Given the description of an element on the screen output the (x, y) to click on. 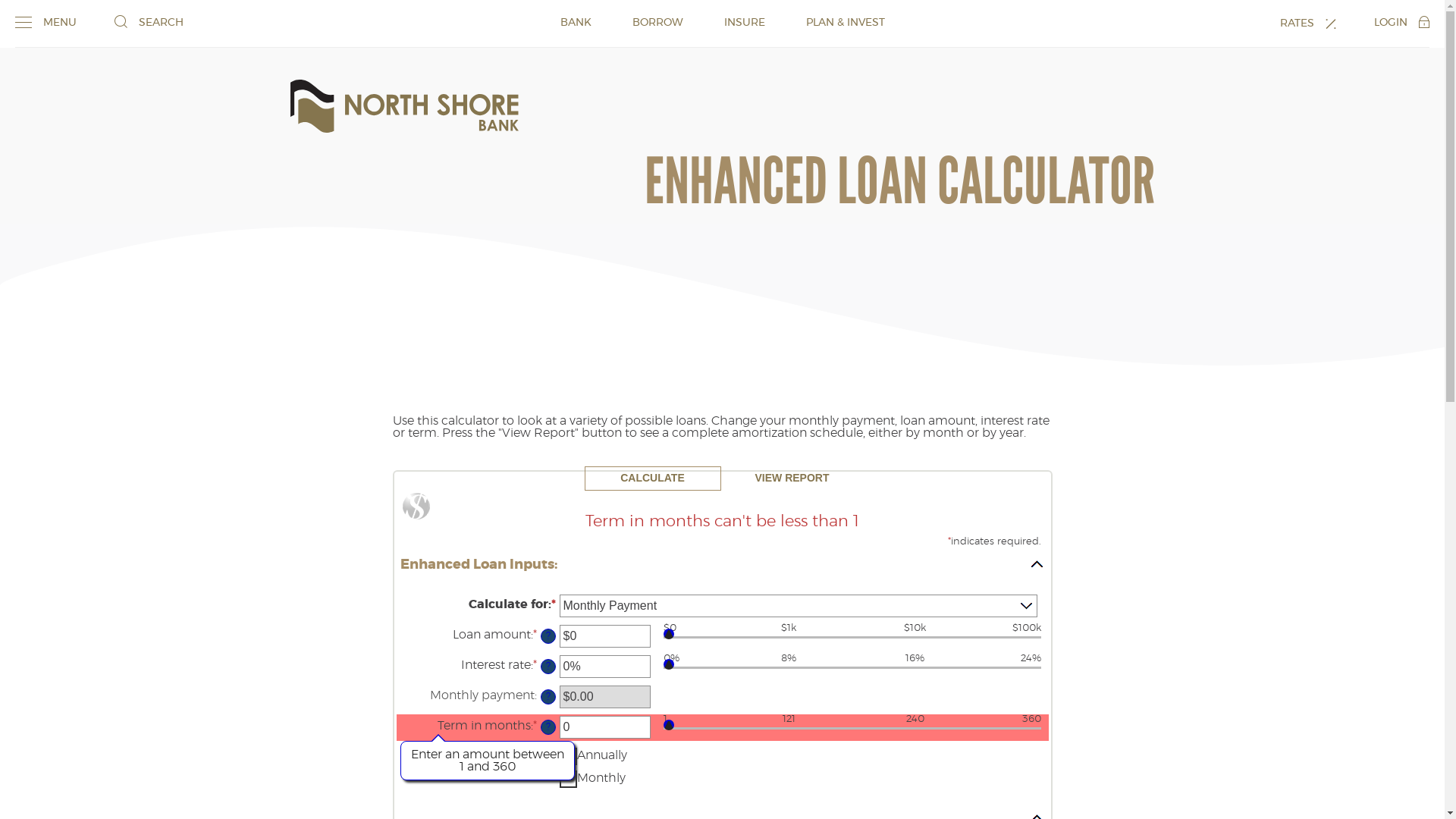
LOGIN Element type: text (1401, 21)
? Element type: text (547, 696)
? Element type: text (547, 666)
Term in months slider Element type: hover (851, 730)
PLAN & INVEST Element type: text (844, 22)
BORROW Element type: text (657, 22)
? Element type: text (547, 726)
RATES Element type: text (1308, 22)
Interest rate slider Element type: hover (851, 670)
Report amortization: Annually Element type: hover (568, 756)
North Shore Bank of Commerce, Duluth, MN Element type: hover (403, 106)
BANK Element type: text (574, 22)
? Element type: text (547, 635)
INSURE Element type: text (743, 22)
Loan amount slider Element type: hover (851, 639)
Report amortization: Monthly Element type: hover (568, 778)
SEARCH Element type: text (148, 21)
MENU Element type: text (45, 21)
